Given the description of an element on the screen output the (x, y) to click on. 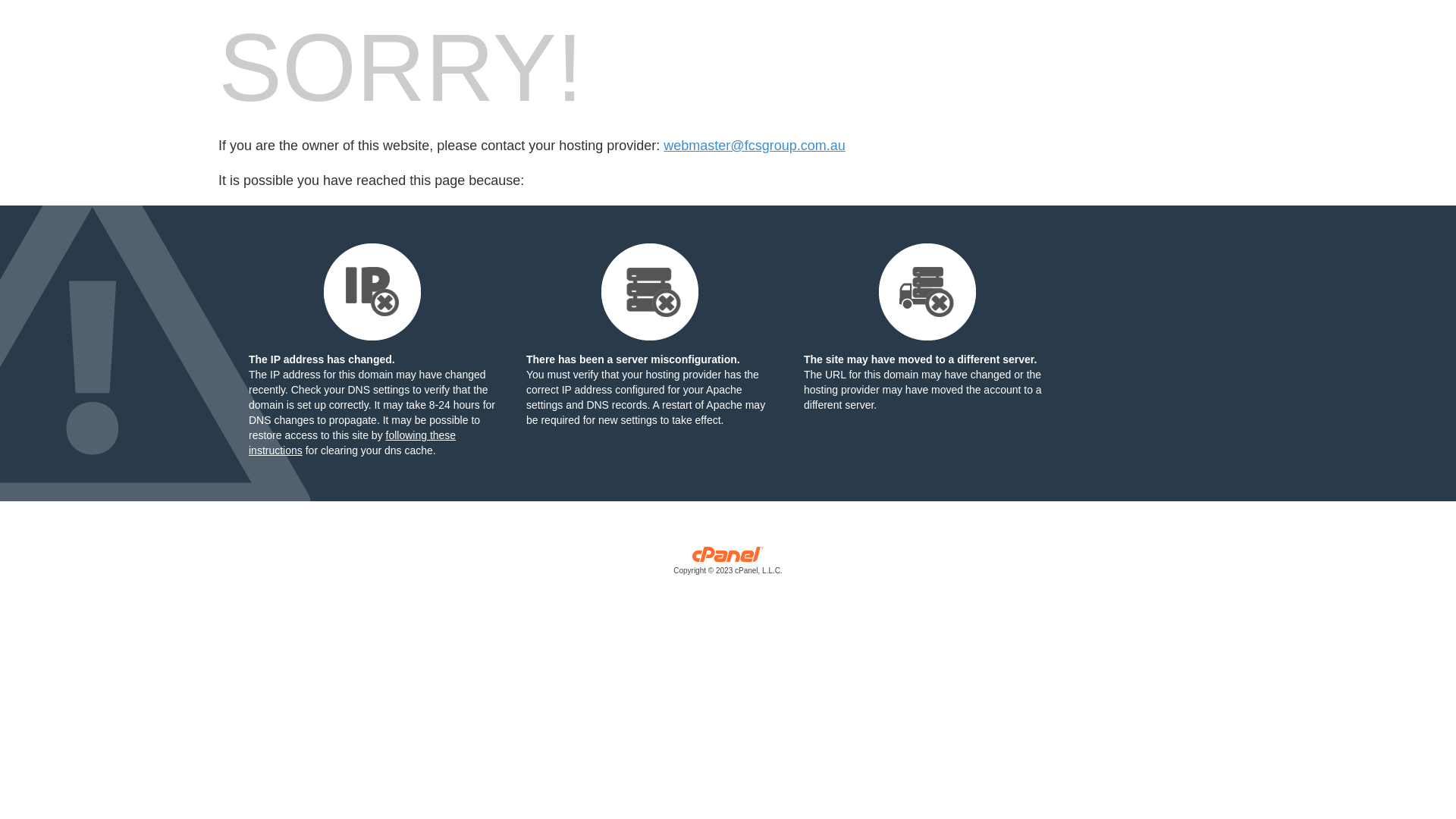
following these instructions Element type: text (351, 442)
webmaster@fcsgroup.com.au Element type: text (753, 145)
